Given the description of an element on the screen output the (x, y) to click on. 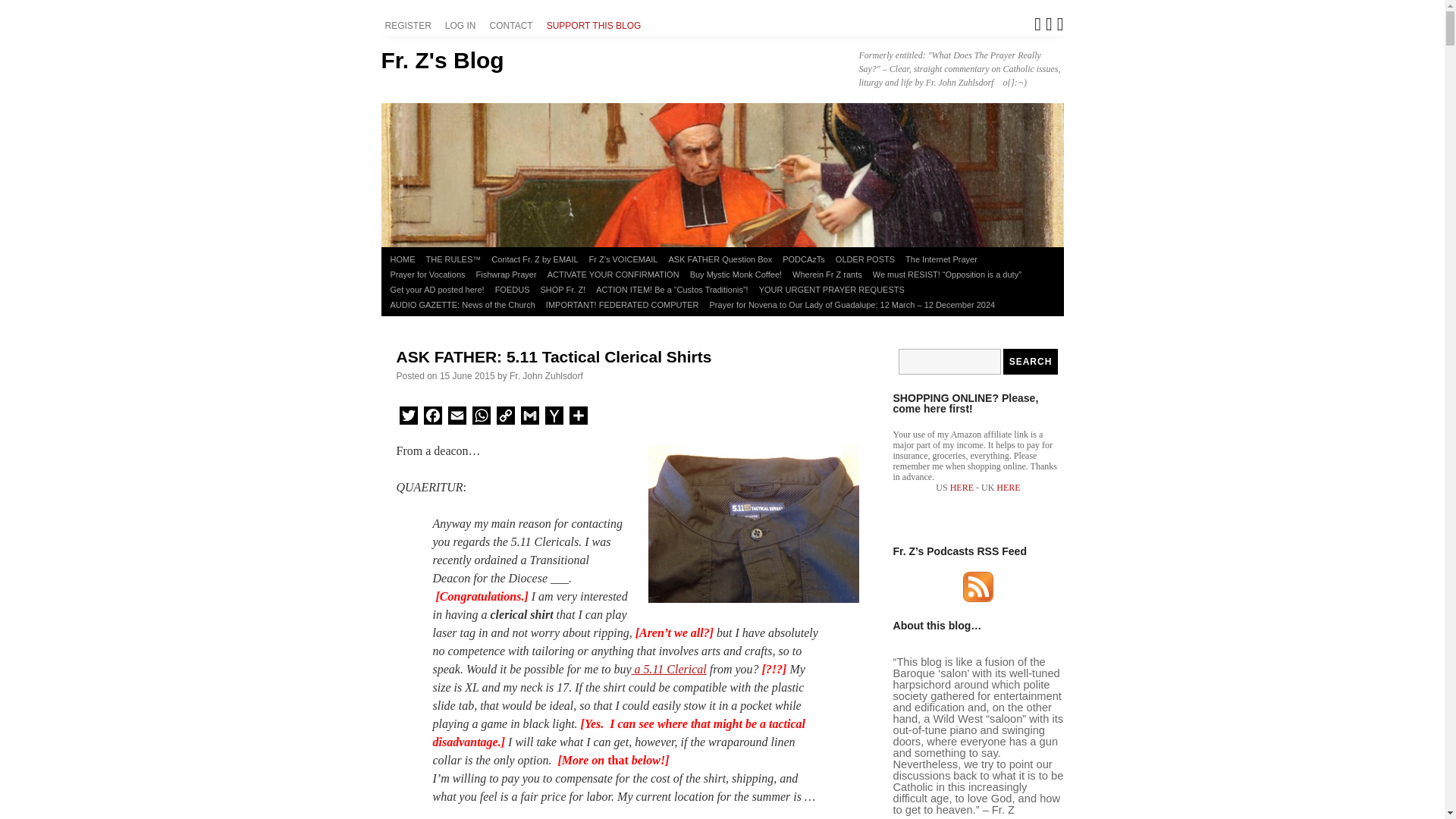
SHOP Fr. Z! (562, 289)
Copy Link (504, 417)
ASK FATHER Question Box (719, 258)
Yahoo Mail (553, 417)
Search (1030, 361)
AUDIO GAZETTE: News of the Church (462, 304)
Buy Mystic Monk Coffee! (735, 273)
PODCAzTs (803, 258)
Get your AD posted here! (437, 289)
The Internet Prayer (940, 258)
Contact Fr. Z by EMAIL (534, 258)
IMPORTANT! FEDERATED COMPUTER (622, 304)
Fr. John Zuhlsdorf (546, 376)
SUPPORT THIS BLOG (596, 25)
FOEDUS (512, 289)
